Given the description of an element on the screen output the (x, y) to click on. 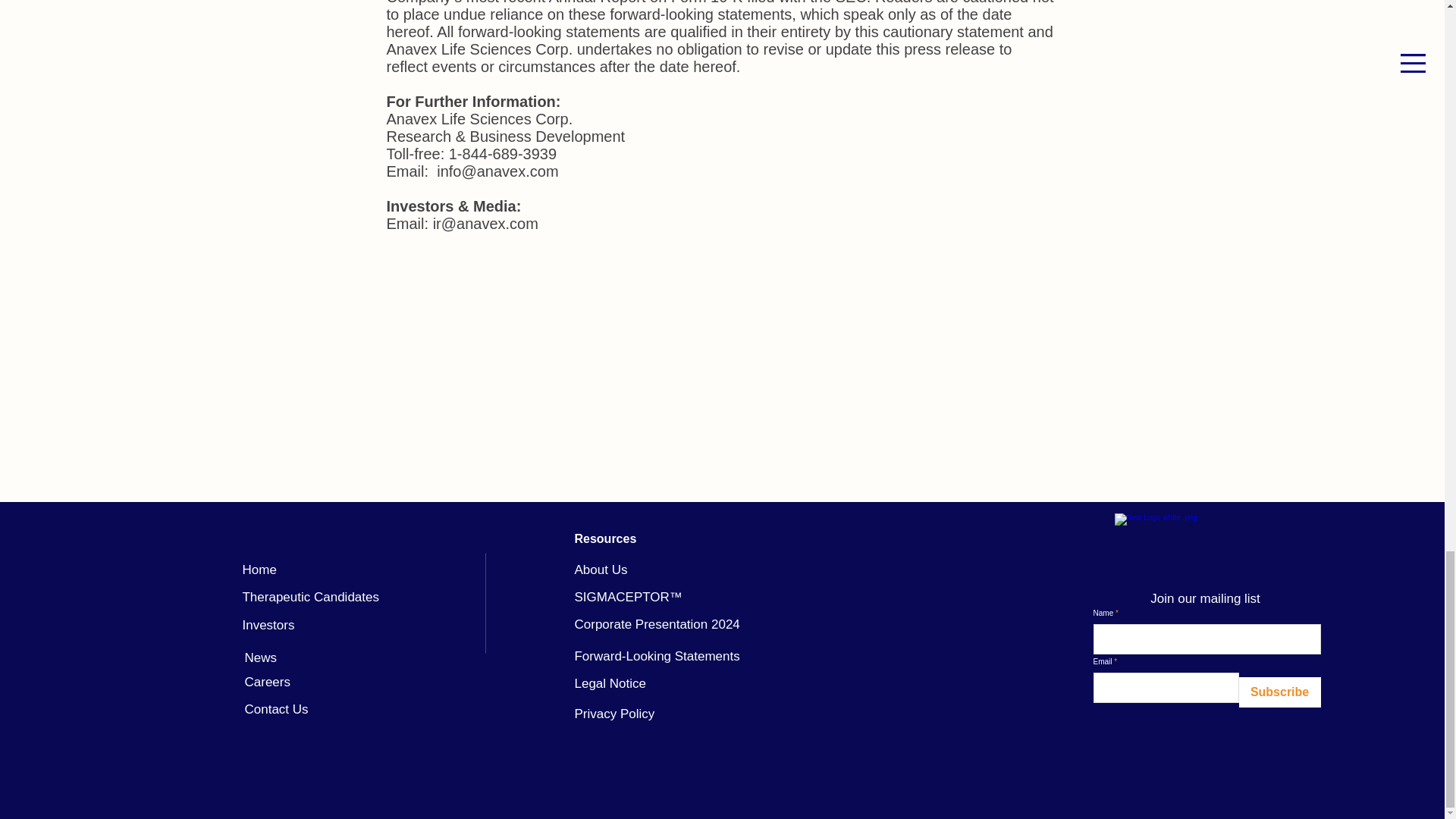
Legal Notice (609, 683)
Subscribe (1279, 692)
About Us (600, 569)
Forward-Looking Statements (656, 656)
Corporate Presentation 2024 (656, 624)
Therapeutic Candidates (309, 596)
Home (258, 569)
Investors (267, 625)
Contact Us (275, 708)
Privacy Policy (613, 713)
Careers (266, 681)
News (260, 657)
